Given the description of an element on the screen output the (x, y) to click on. 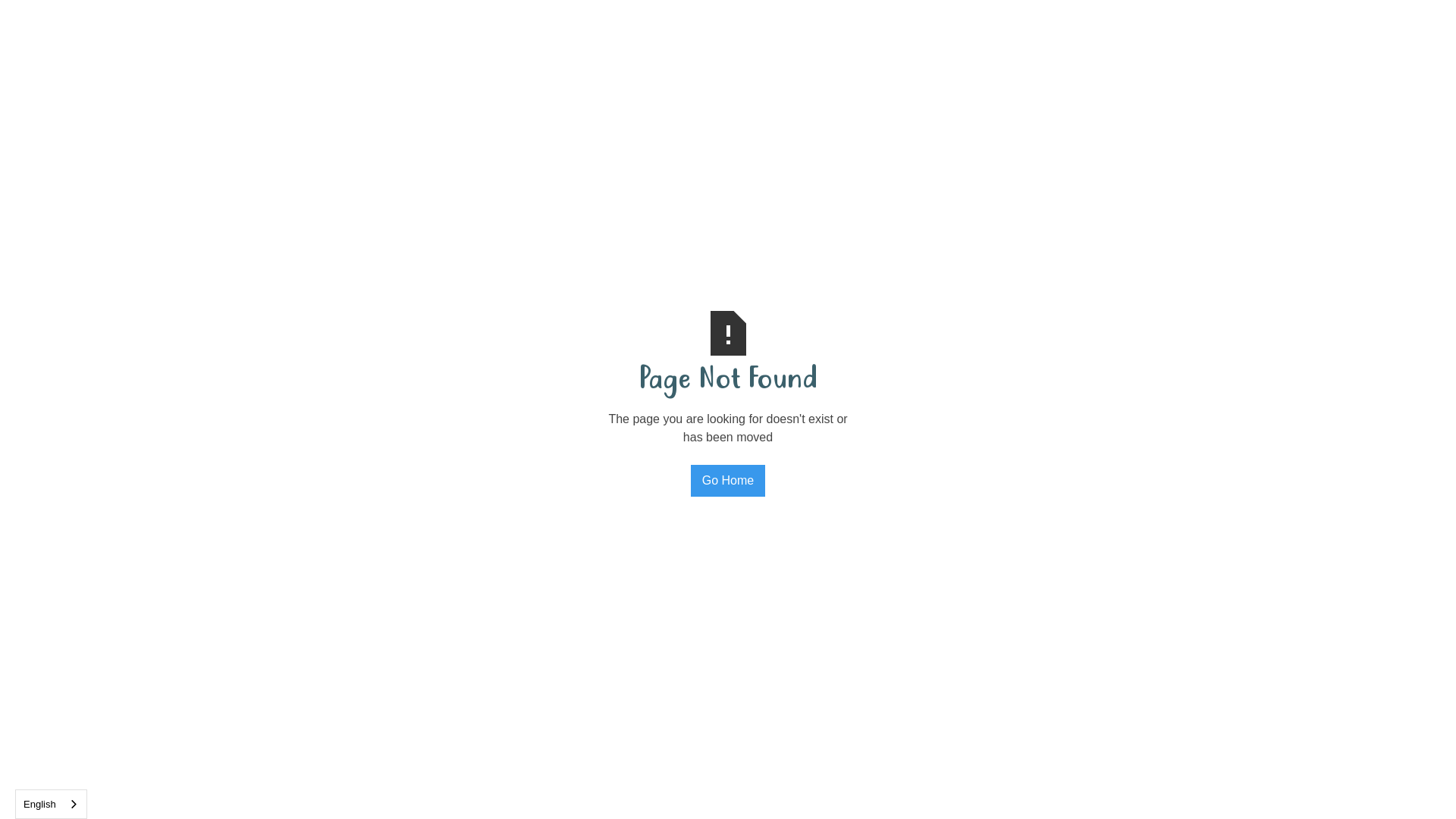
Go Home Element type: text (727, 480)
English Element type: text (50, 804)
